Given the description of an element on the screen output the (x, y) to click on. 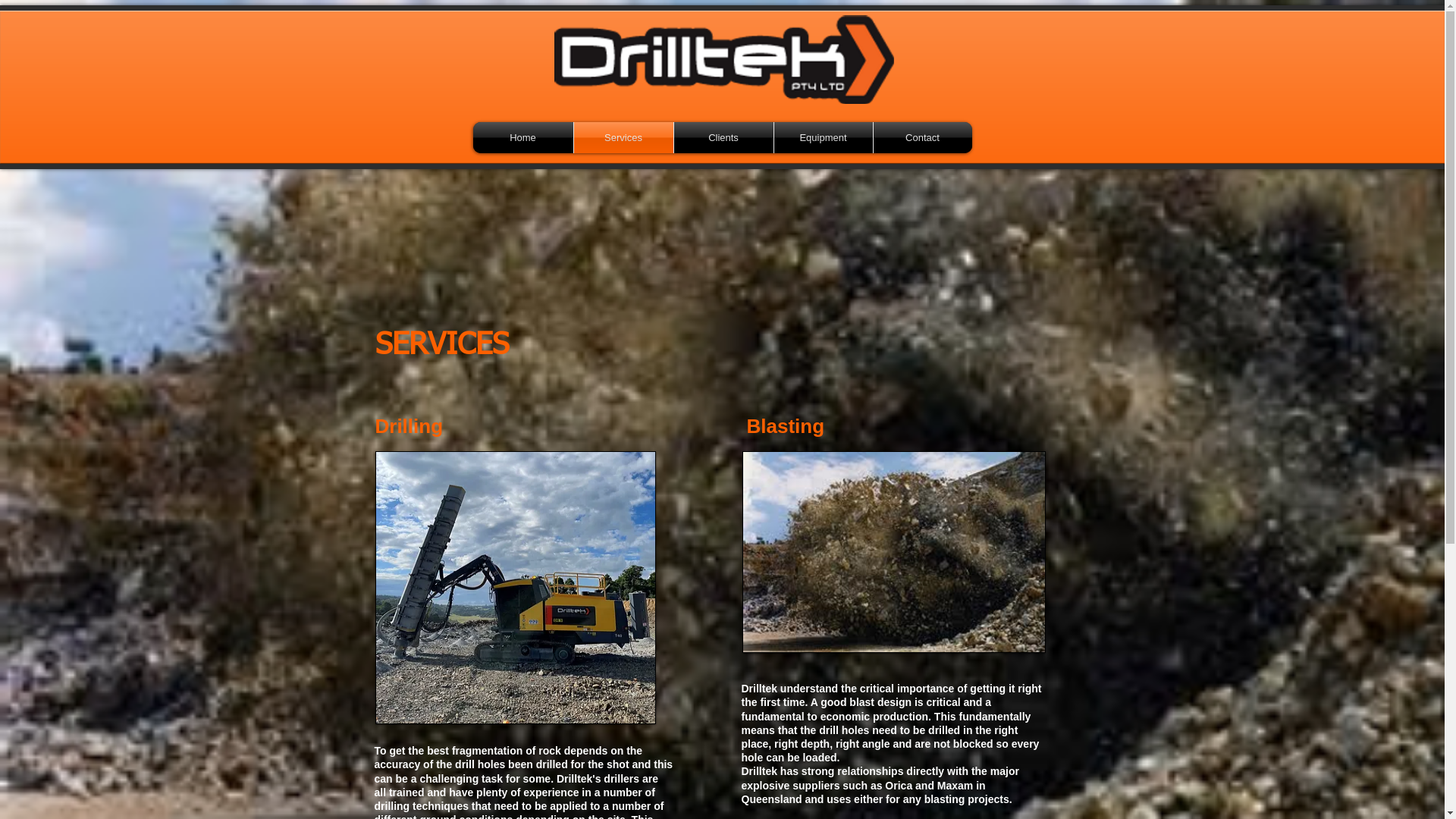
Clients Element type: text (722, 137)
Contact Element type: text (922, 137)
Equipment Element type: text (822, 137)
Drilltek Pty Ltd Element type: hover (723, 59)
Epiroc T40 Element type: hover (514, 587)
Home Element type: text (523, 137)
Services Element type: text (622, 137)
Drilltek Blast Element type: hover (892, 551)
